Given the description of an element on the screen output the (x, y) to click on. 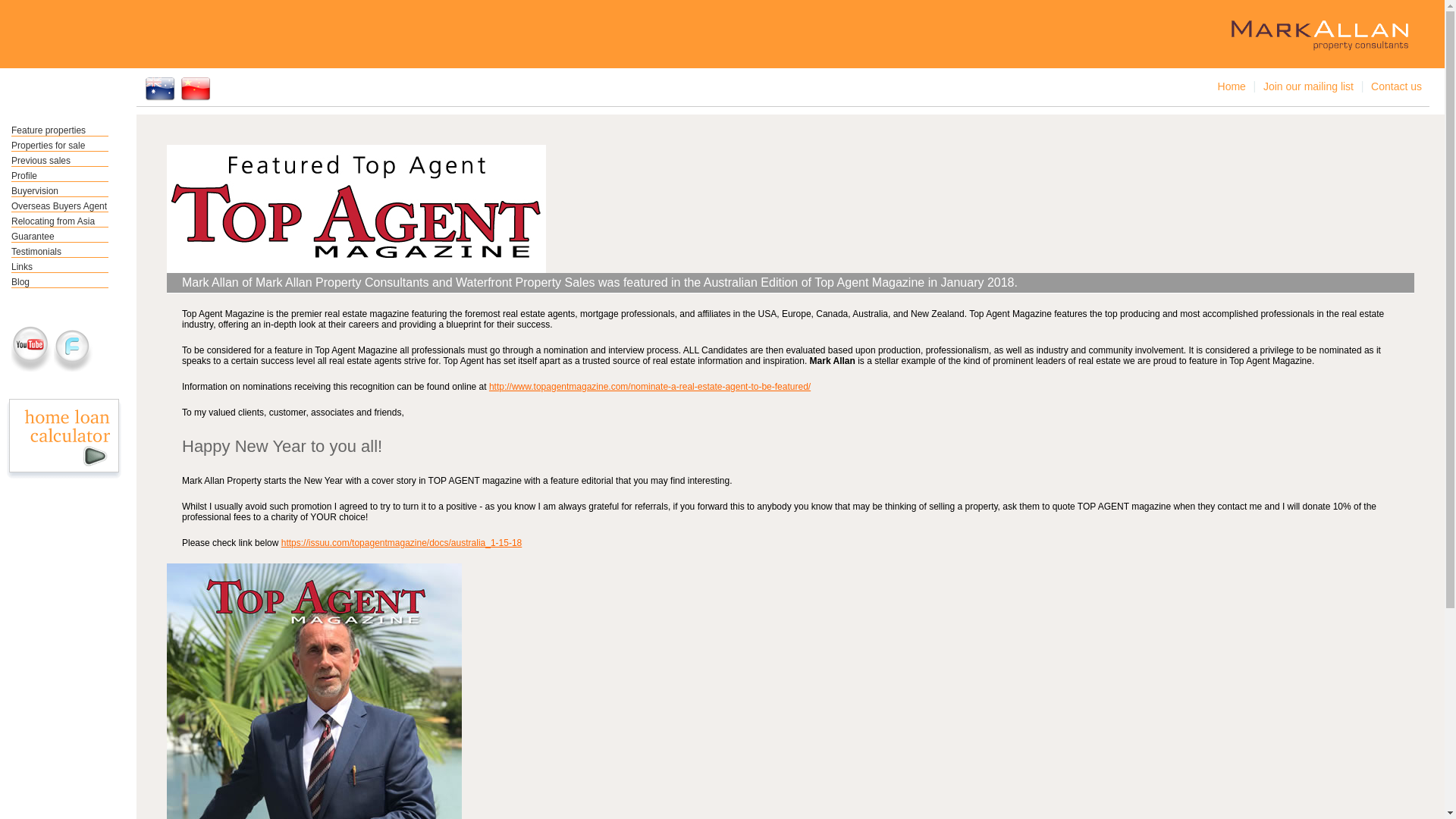
Home Element type: text (1231, 86)
Links Element type: text (59, 266)
https://issuu.com/topagentmagazine/docs/australia_1-15-18 Element type: text (401, 542)
Overseas Buyers Agent Element type: text (59, 205)
Guarantee Element type: text (59, 236)
Profile Element type: text (59, 175)
Blog Element type: text (59, 281)
Relocating from Asia Element type: text (59, 221)
Join our mailing list Element type: text (1308, 86)
Properties for sale Element type: text (59, 145)
Testimonials Element type: text (59, 251)
Contact us Element type: text (1396, 86)
Buyervision Element type: text (59, 190)
Previous sales Element type: text (59, 160)
Feature properties Element type: text (59, 130)
